Given the description of an element on the screen output the (x, y) to click on. 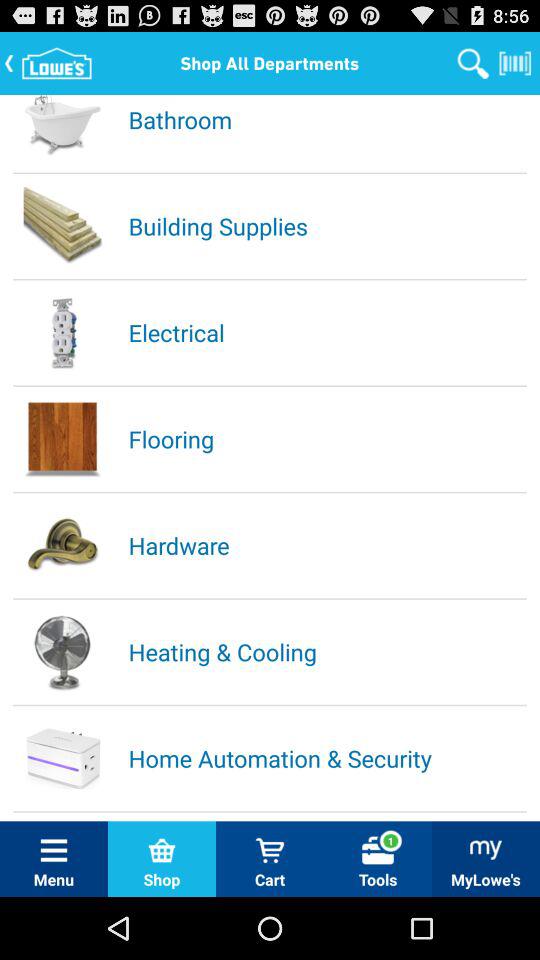
press the flooring app (326, 438)
